Given the description of an element on the screen output the (x, y) to click on. 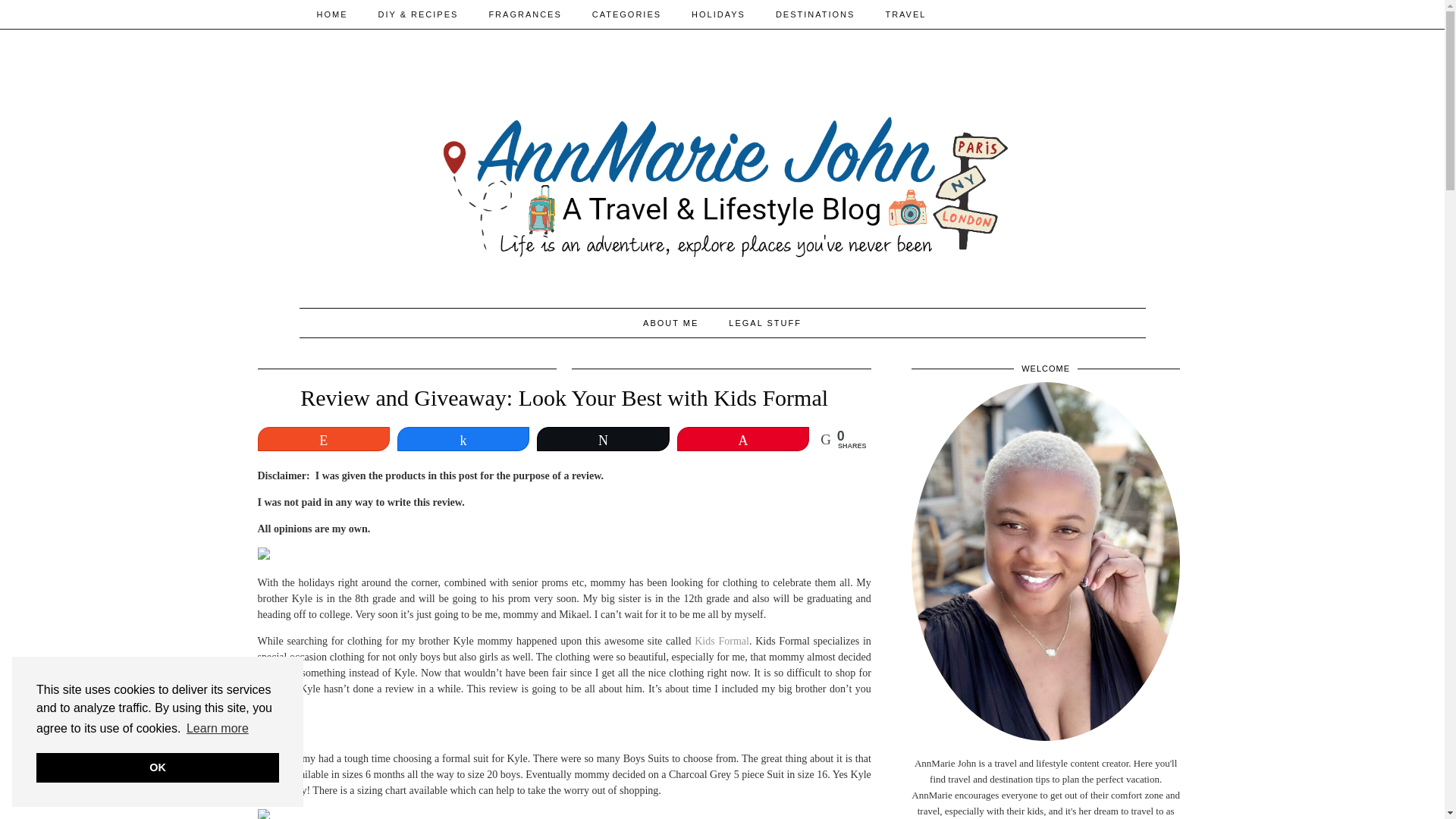
Learn more (217, 728)
OK (157, 767)
